Given the description of an element on the screen output the (x, y) to click on. 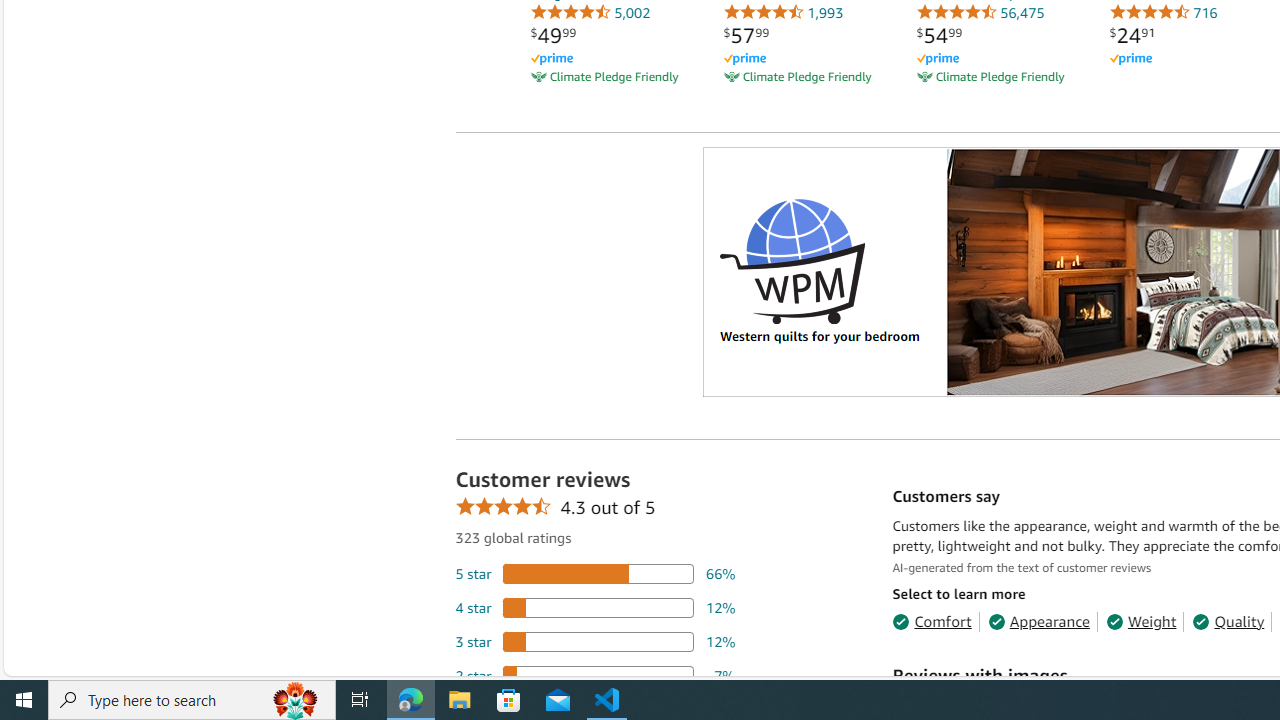
$24.91 (1131, 35)
$54.99 (939, 35)
$49.99 (553, 35)
Weight (1140, 621)
66 percent of reviews have 5 stars (595, 573)
$57.99 (746, 35)
Logo (792, 260)
Amazon Prime (1188, 58)
12 percent of reviews have 3 stars (595, 641)
Quality (1227, 621)
5,002 (590, 12)
716 (1163, 12)
Comfort (931, 621)
Appearance (1038, 621)
